Given the description of an element on the screen output the (x, y) to click on. 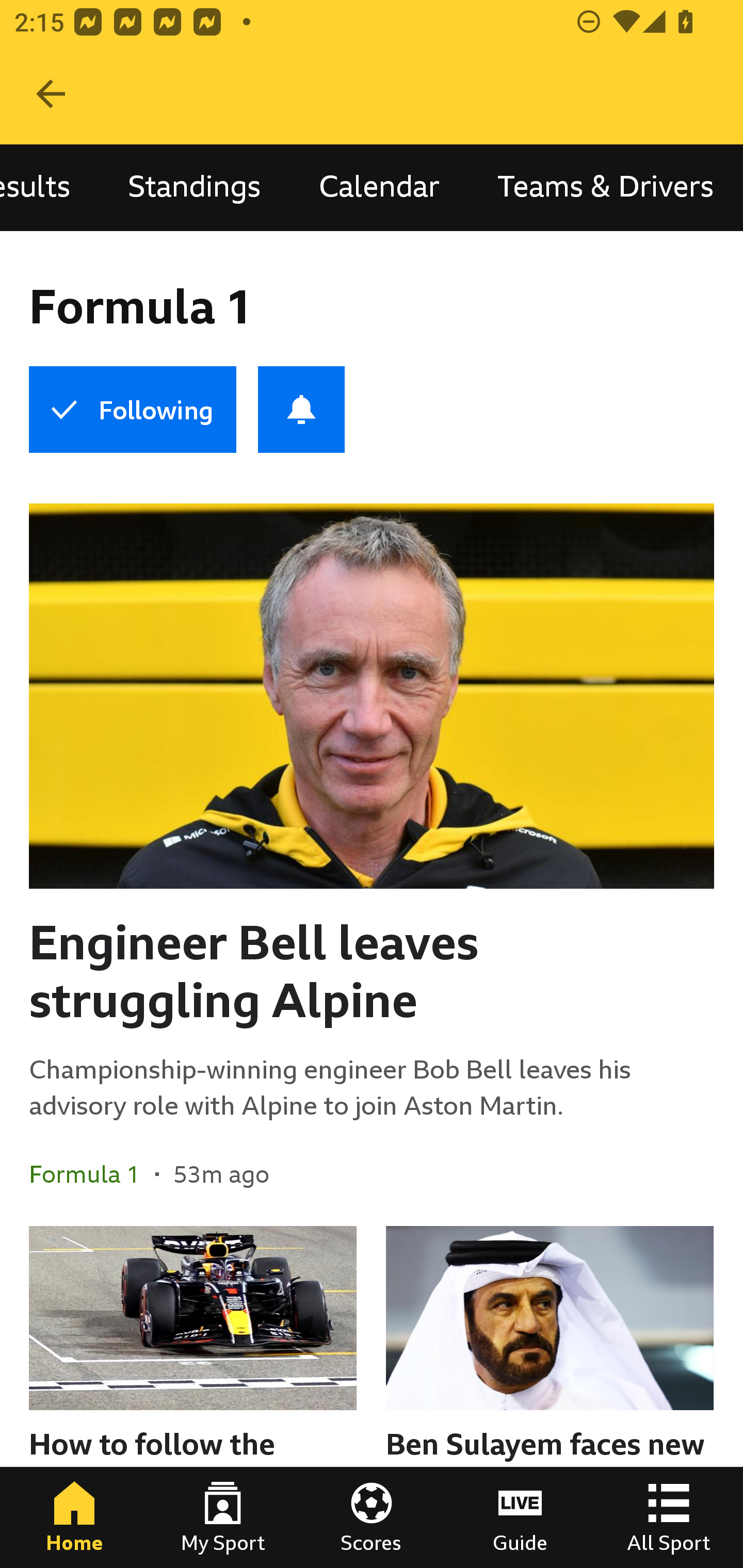
Navigate up (50, 93)
Standings (193, 187)
Calendar (378, 187)
Teams & Drivers (605, 187)
Following Formula 1 Following (132, 409)
Push notifications for Formula 1 (300, 409)
My Sport (222, 1517)
Scores (371, 1517)
Guide (519, 1517)
All Sport (668, 1517)
